Given the description of an element on the screen output the (x, y) to click on. 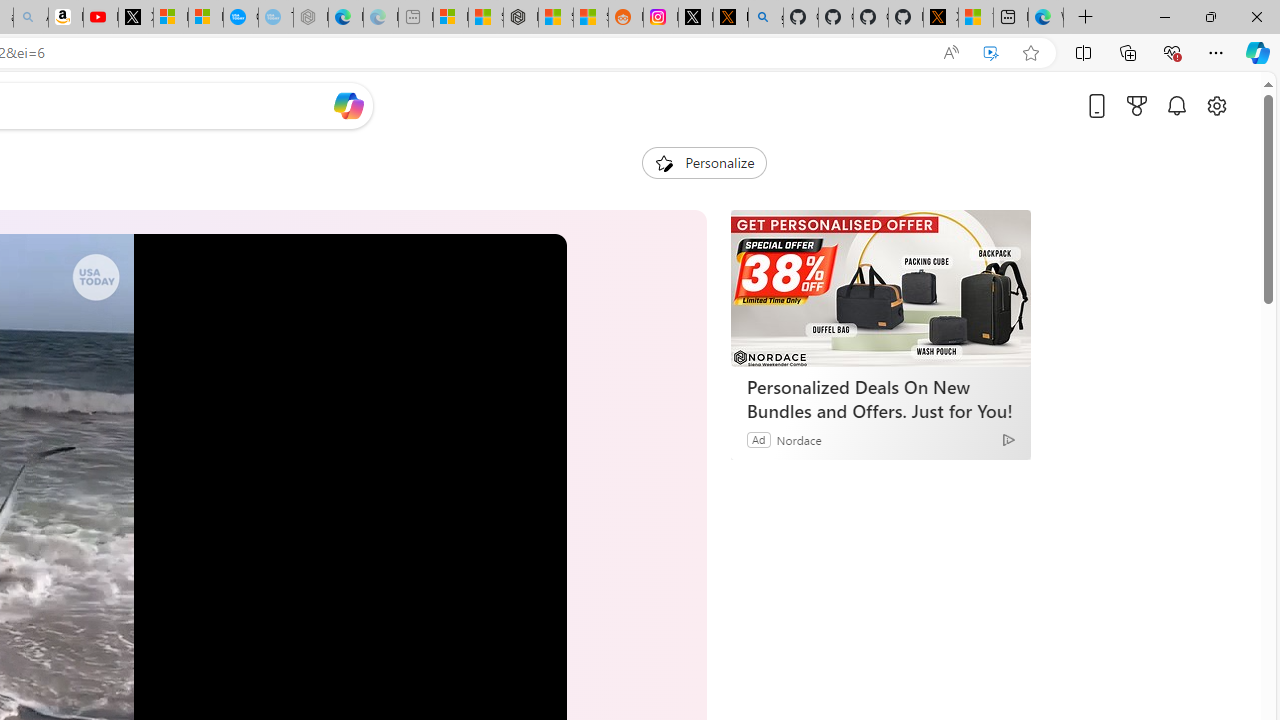
github - Search (765, 17)
Open Copilot (347, 105)
help.x.com | 524: A timeout occurred (730, 17)
Welcome to Microsoft Edge (1046, 17)
Opinion: Op-Ed and Commentary - USA TODAY (241, 17)
